Given the description of an element on the screen output the (x, y) to click on. 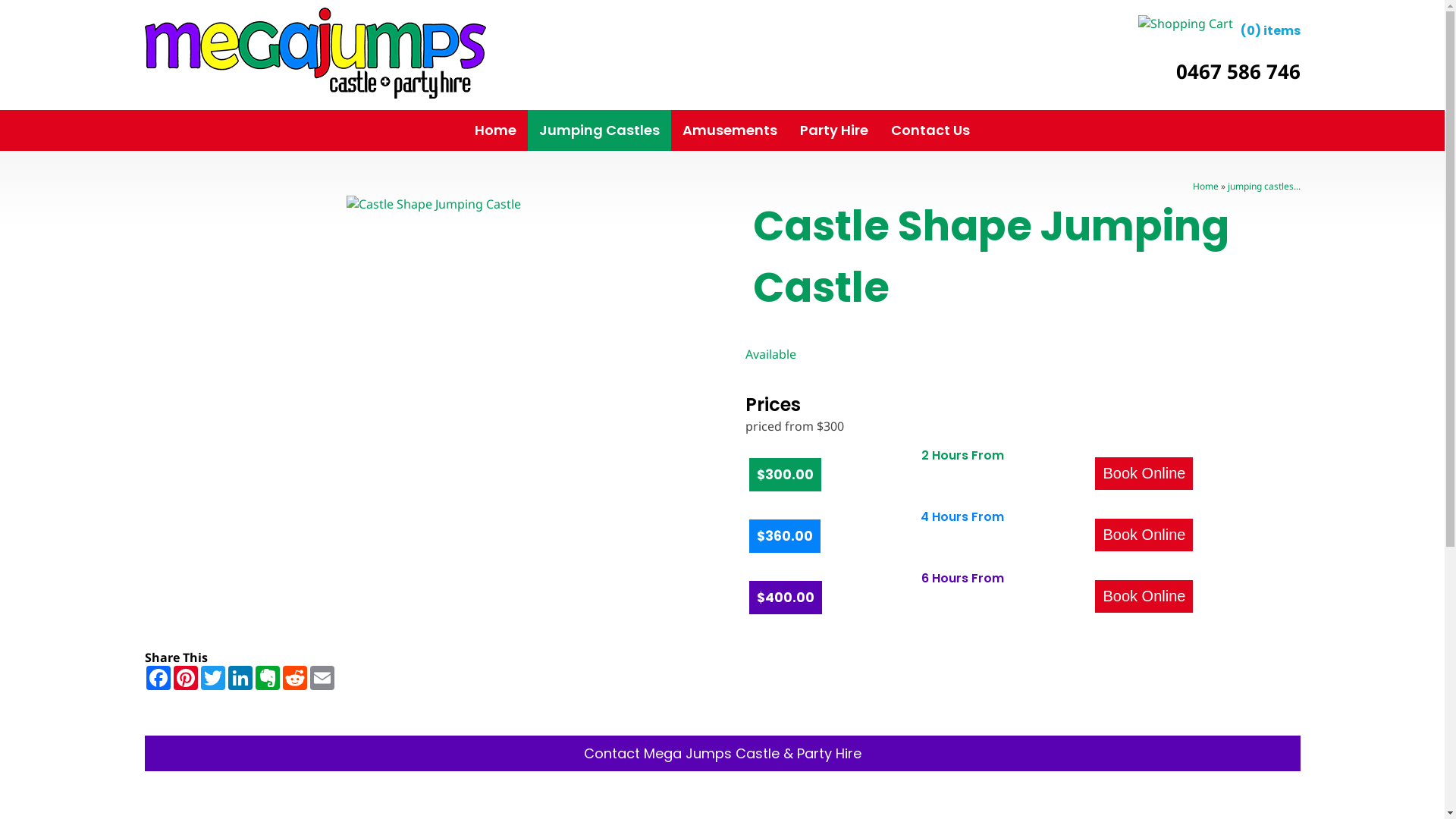
Shopping Cart Element type: hover (1184, 23)
Home Element type: text (495, 129)
Book Online Element type: text (1143, 534)
(0) items Element type: text (1218, 23)
Contact Mega Jumps Castle & Party Hire Element type: text (721, 753)
0467 586 746 Element type: text (1237, 70)
Mega Jumps Castle & Party Hire Element type: hover (314, 53)
Jumping Castles Element type: text (599, 129)
Contact Us Element type: text (930, 129)
Book Online Element type: text (1143, 596)
Castle Shape Jumping Castle Element type: hover (432, 203)
Amusements Element type: text (729, 129)
Home Element type: text (1204, 185)
jumping castles... Element type: text (1262, 185)
Party Hire Element type: text (833, 129)
Book Online Element type: text (1143, 473)
